Given the description of an element on the screen output the (x, y) to click on. 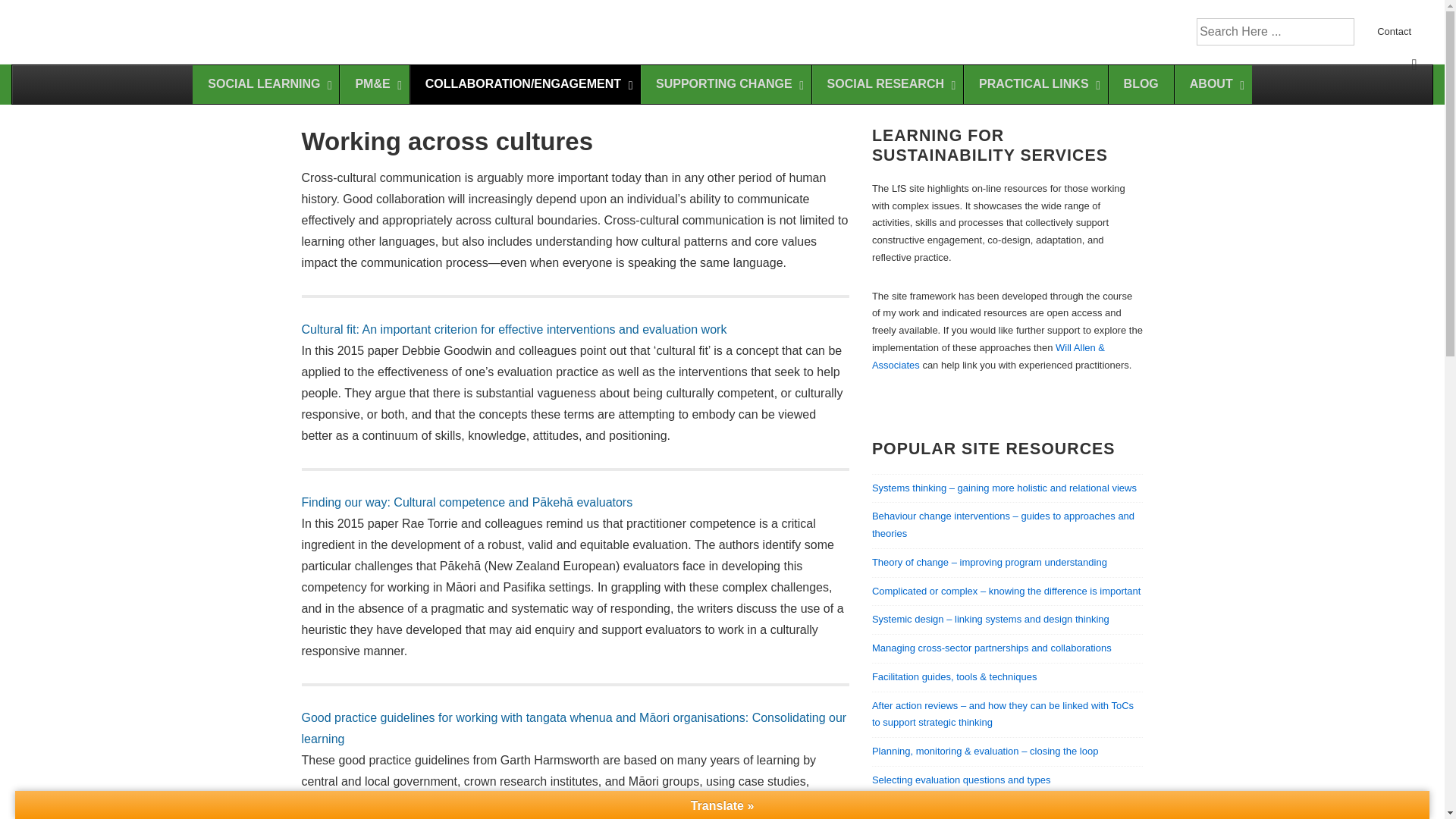
MENU (1414, 64)
Contact (1393, 30)
SOCIAL LEARNING (265, 84)
